Given the description of an element on the screen output the (x, y) to click on. 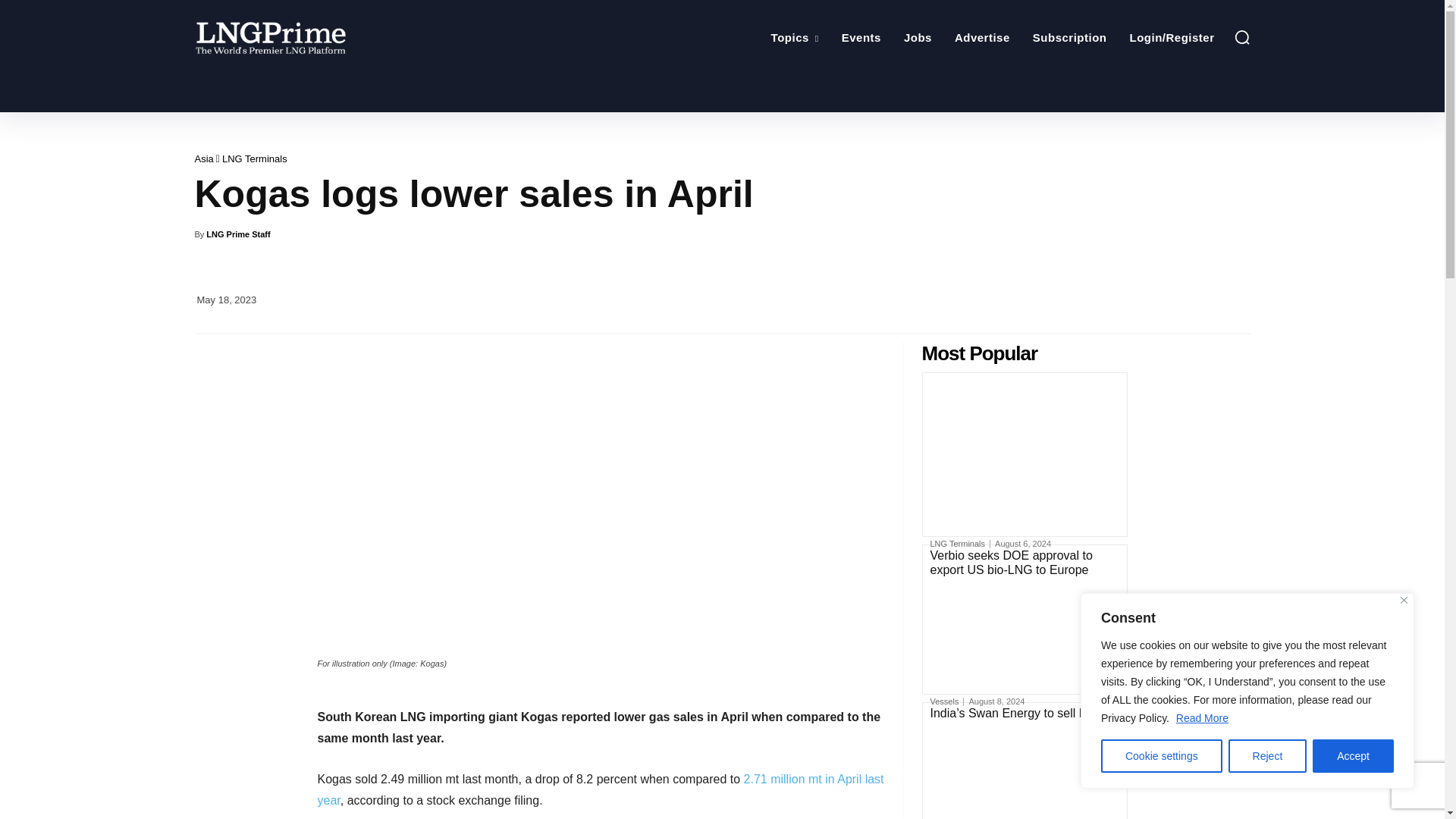
Reject (1267, 756)
Cookie settings (1161, 756)
Read More (1201, 717)
Accept (1353, 756)
